Given the description of an element on the screen output the (x, y) to click on. 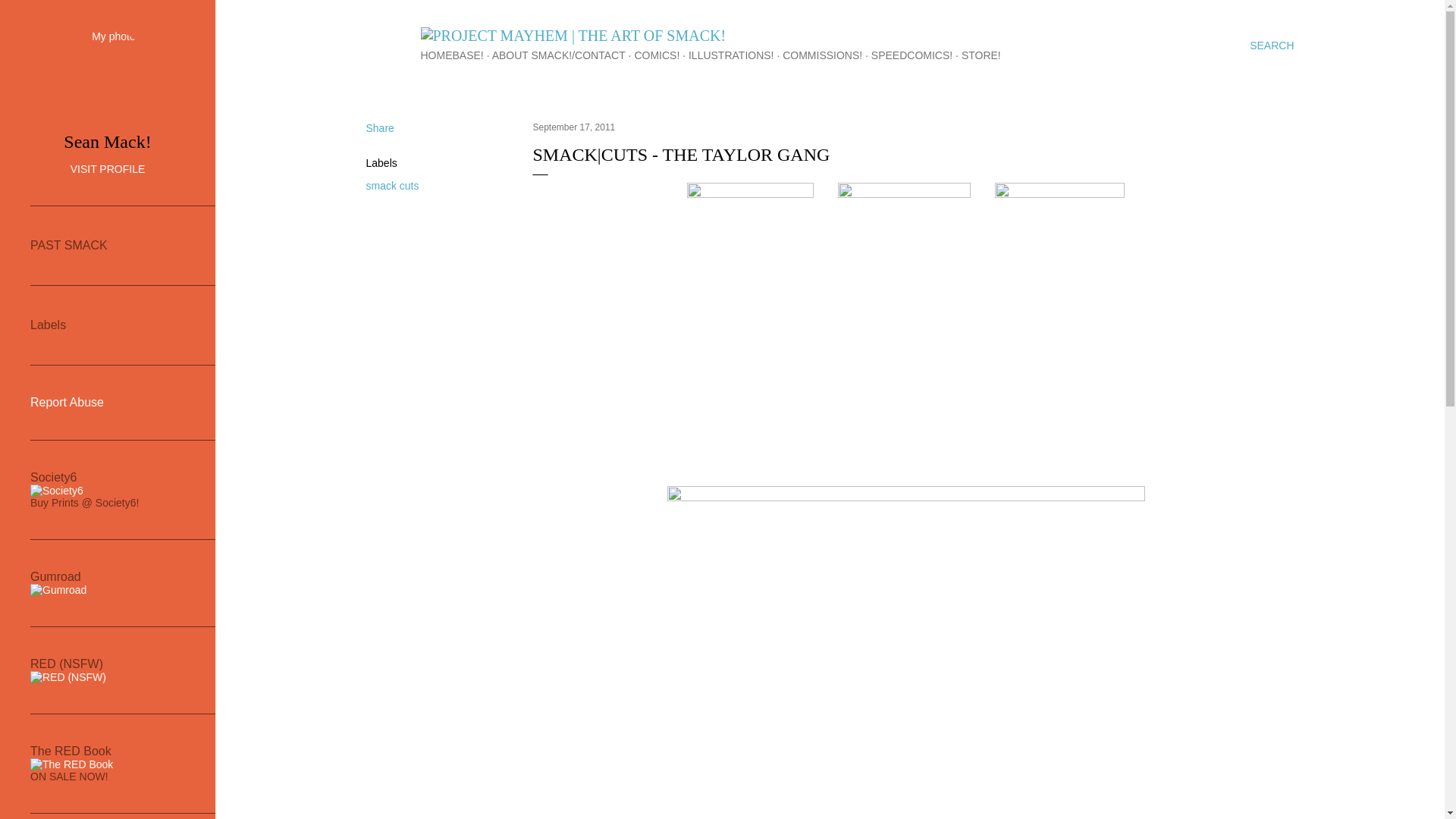
Share (379, 128)
ILLUSTRATIONS! (731, 55)
SEARCH (1271, 45)
STORE! (980, 55)
COMICS! (656, 55)
September 17, 2011 (573, 127)
permanent link (573, 127)
COMMISSIONS! (822, 55)
smack cuts (392, 185)
HOMEBASE! (451, 55)
